Given the description of an element on the screen output the (x, y) to click on. 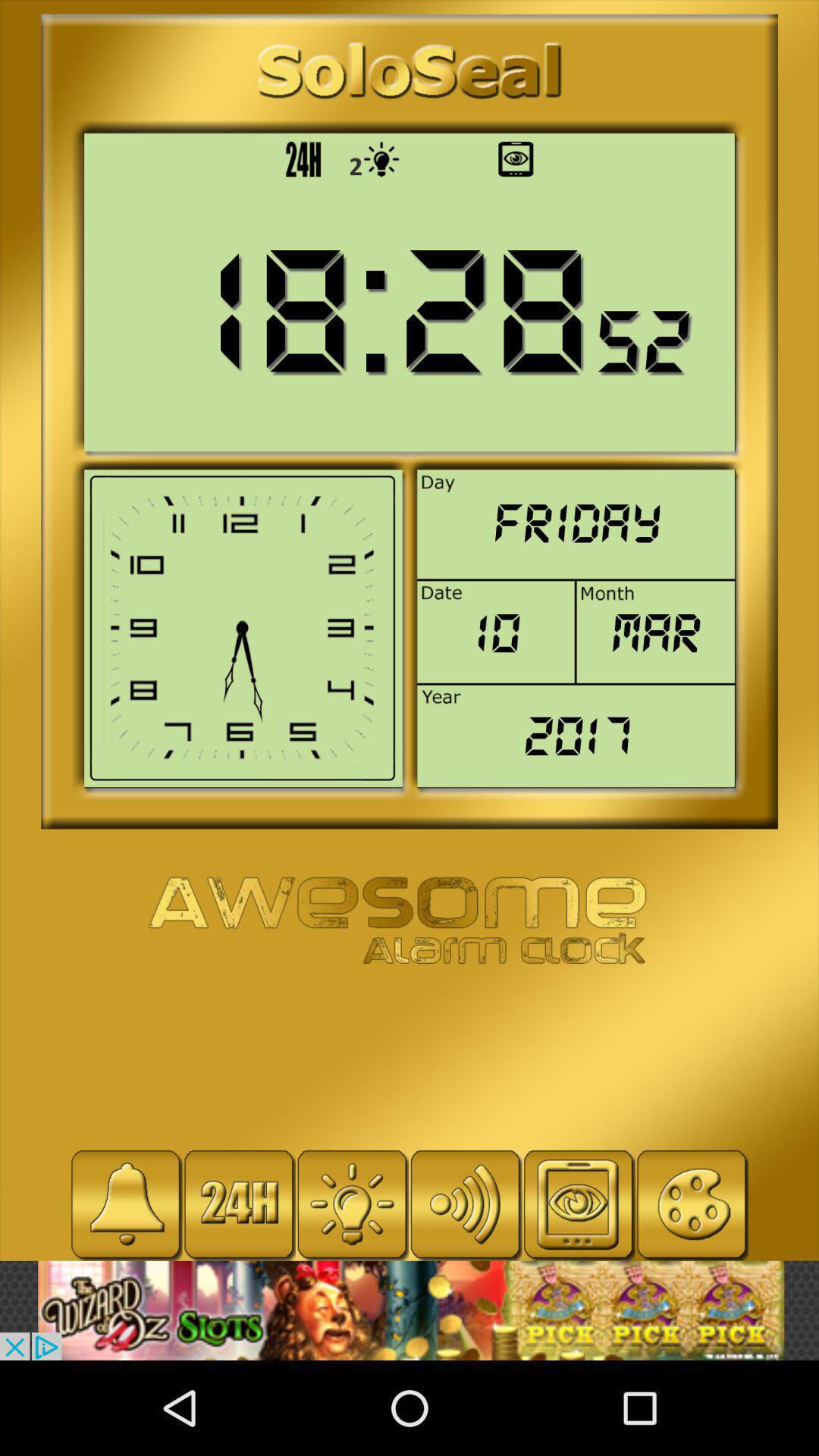
go to alarm button (125, 1203)
